Given the description of an element on the screen output the (x, y) to click on. 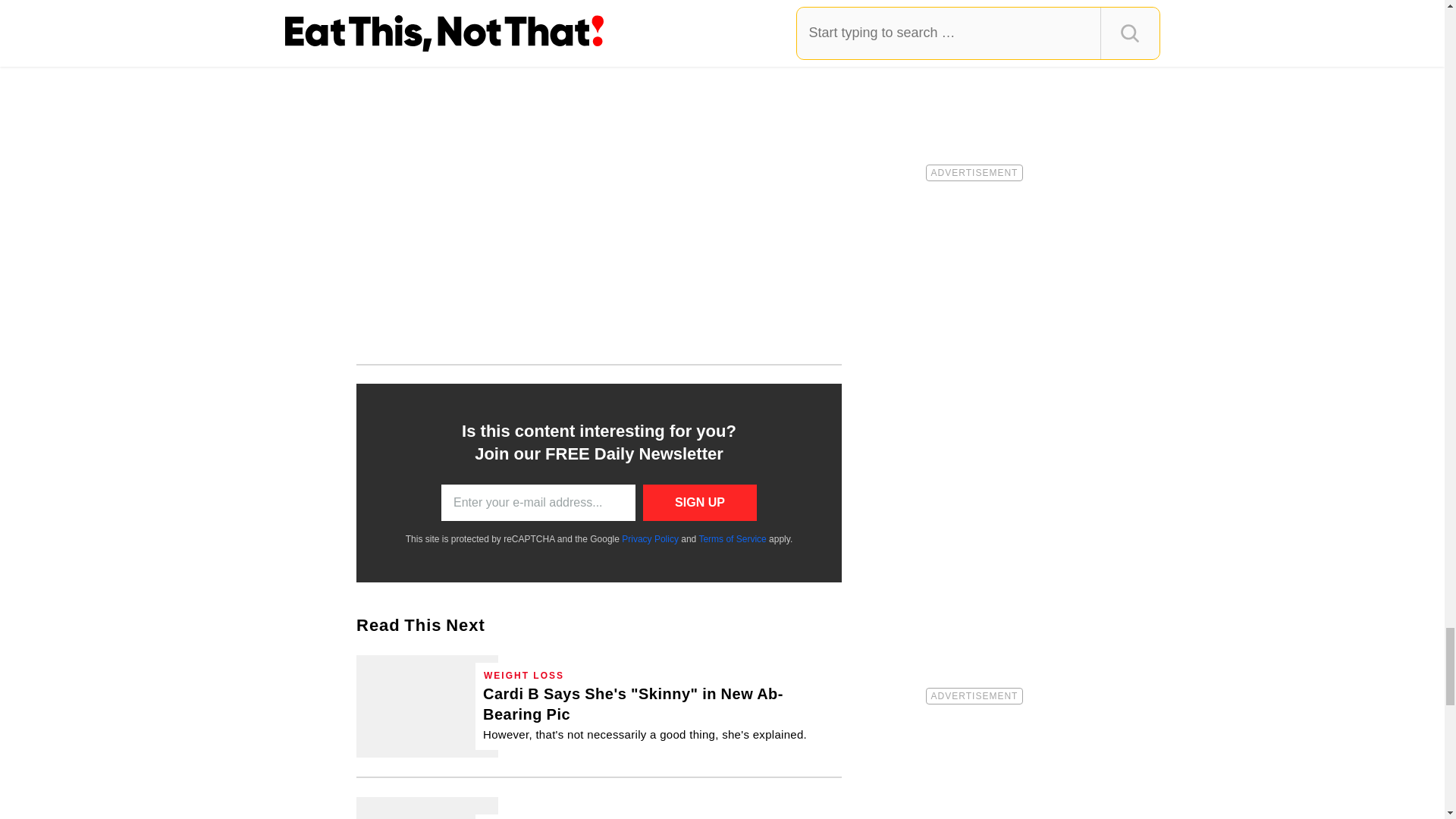
Cardi B Says She's "Skinny" in New Ab-Bearing Photo (658, 712)
Cardi B Says She's "Skinny" in New Ab-Bearing Photo (426, 706)
